Given the description of an element on the screen output the (x, y) to click on. 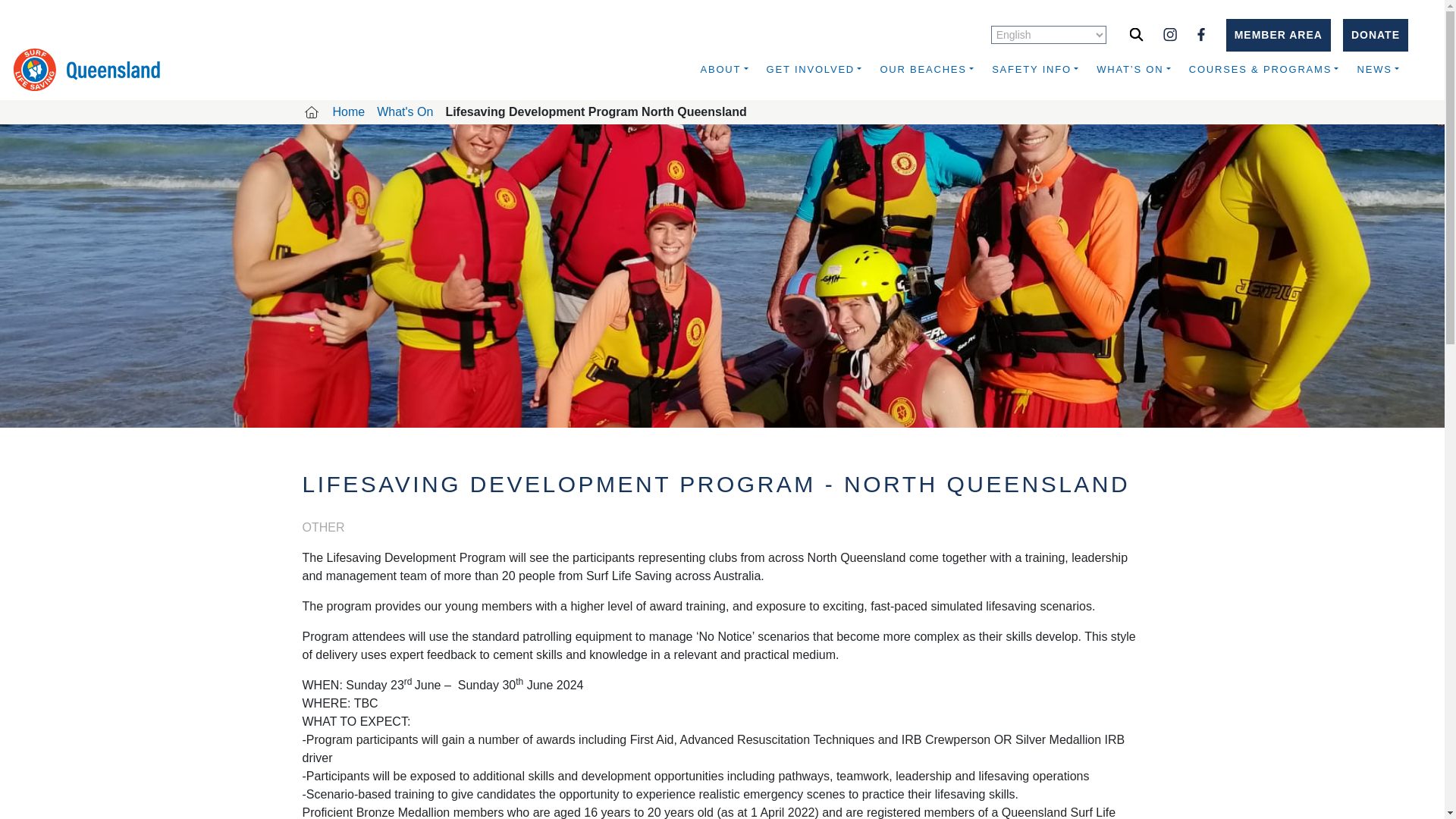
DONATE (1374, 34)
Member Area (1277, 34)
SAFETY INFO (1034, 69)
Get Involved (813, 69)
ABOUT (723, 69)
MEMBER AREA (1277, 34)
Donate (1374, 34)
GET INVOLVED (813, 69)
Translate (1048, 34)
About (723, 69)
OUR BEACHES (926, 69)
